Given the description of an element on the screen output the (x, y) to click on. 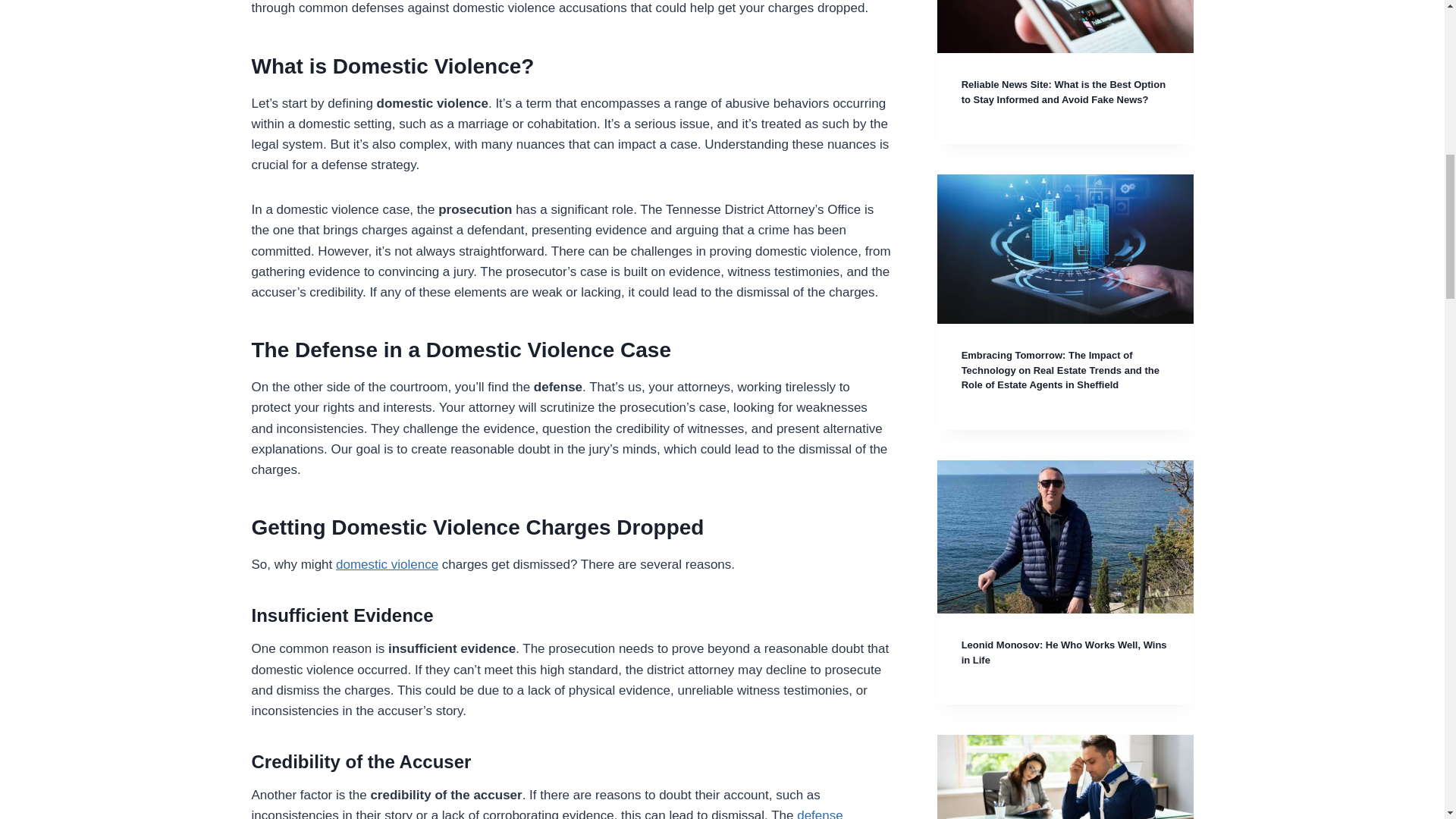
defense attorney (547, 813)
domestic violence (387, 564)
